Given the description of an element on the screen output the (x, y) to click on. 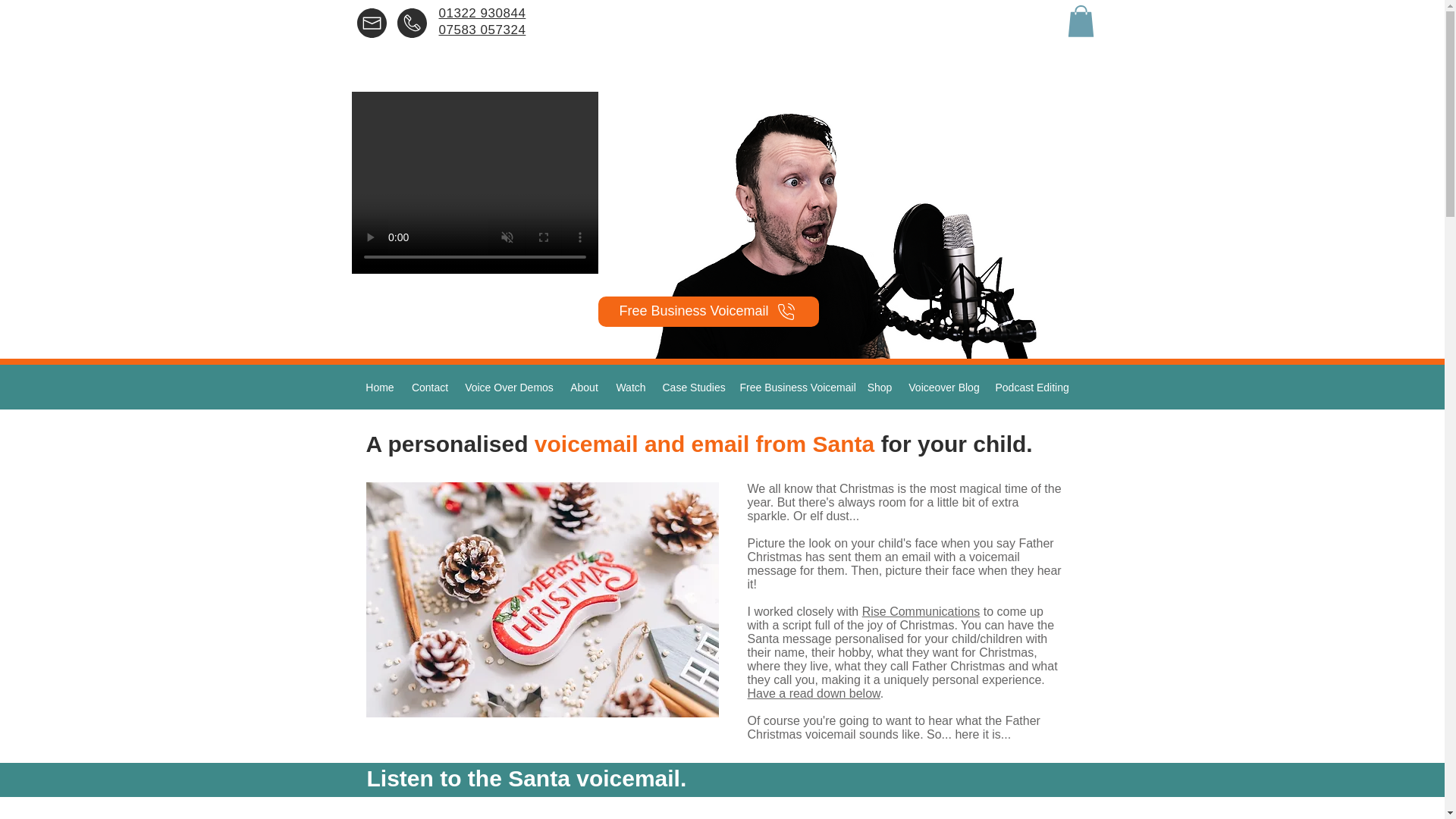
Voice Over Demos (508, 387)
Rise Communications (920, 611)
07583 057324 (481, 38)
Free Business Voicemail (707, 311)
Free Business Voicemail (795, 387)
About (583, 387)
Podcast Editing (1030, 387)
Home (379, 387)
Shop (879, 387)
Watch (630, 387)
